Given the description of an element on the screen output the (x, y) to click on. 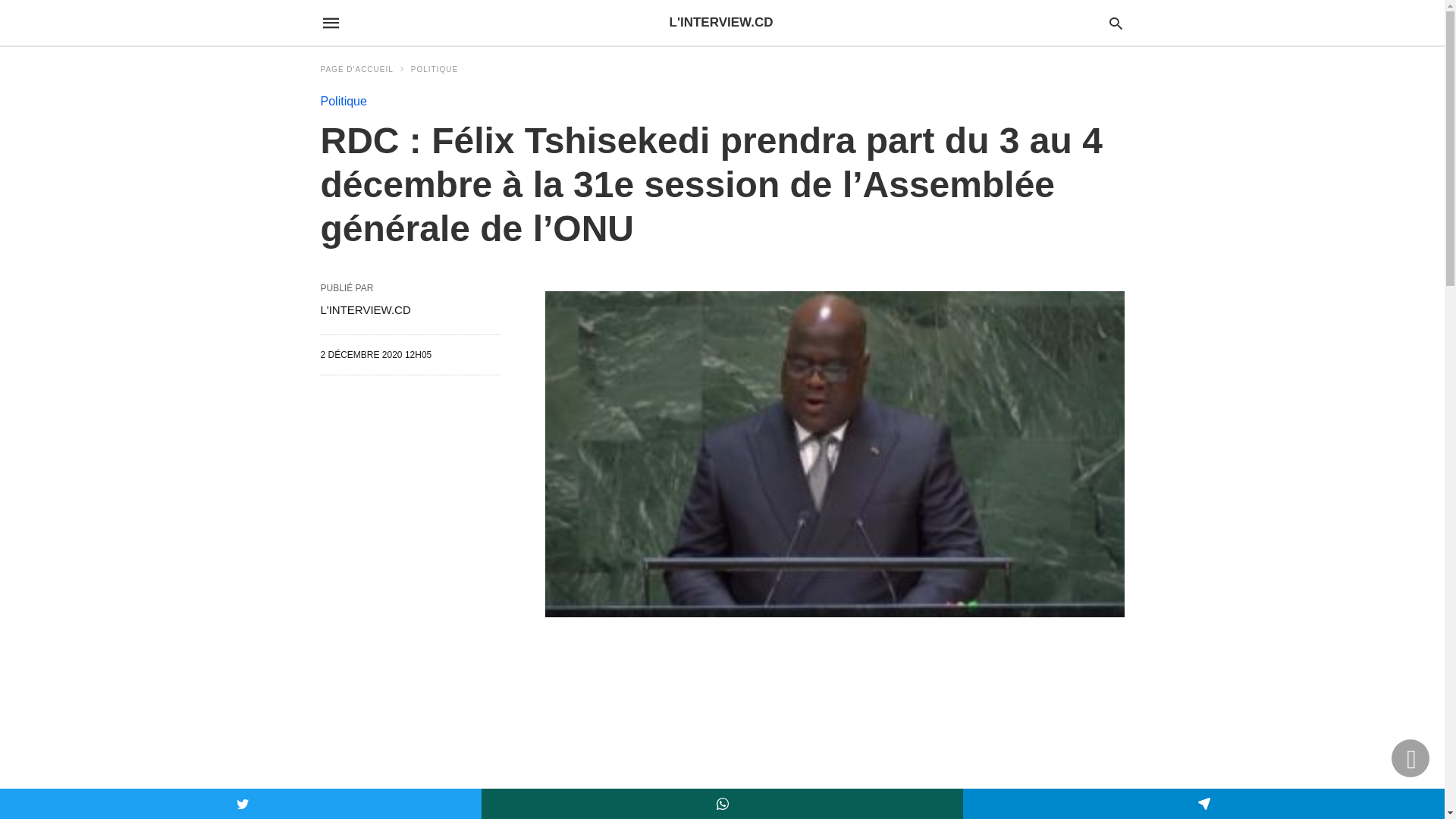
Politique Element type: text (343, 100)
POLITIQUE Element type: text (434, 69)
PAGE D'ACCUEIL Element type: text (363, 69)
back to top Element type: hover (1410, 758)
search Element type: hover (1115, 22)
